Given the description of an element on the screen output the (x, y) to click on. 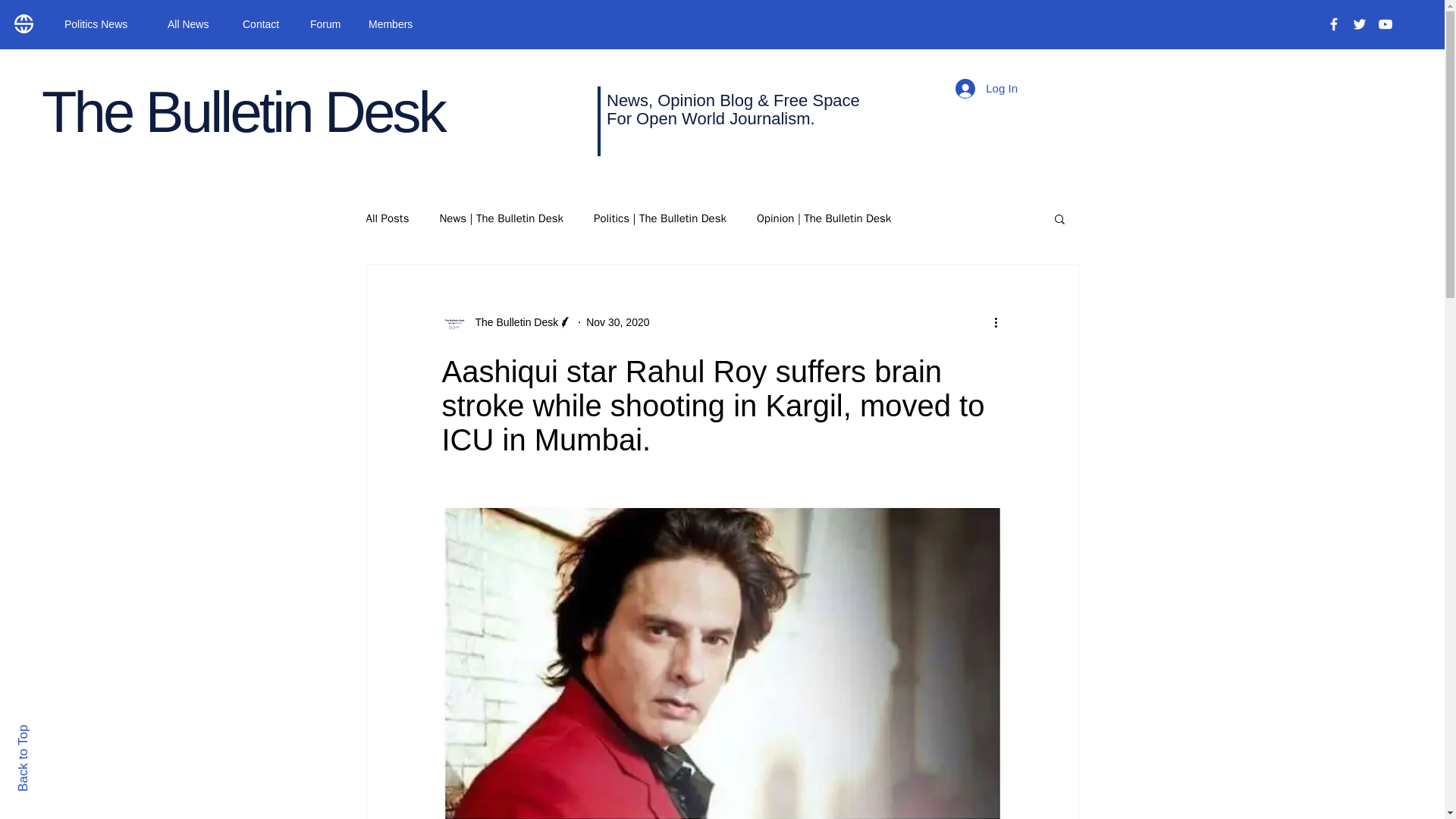
Politics News (103, 24)
Members (394, 24)
All Posts (387, 217)
Nov 30, 2020 (617, 321)
Forum (327, 24)
Log In (985, 88)
The Bulletin Desk (243, 111)
The Bulletin Desk  (511, 321)
Contact (264, 24)
The Bulletin Desk (506, 322)
